Given the description of an element on the screen output the (x, y) to click on. 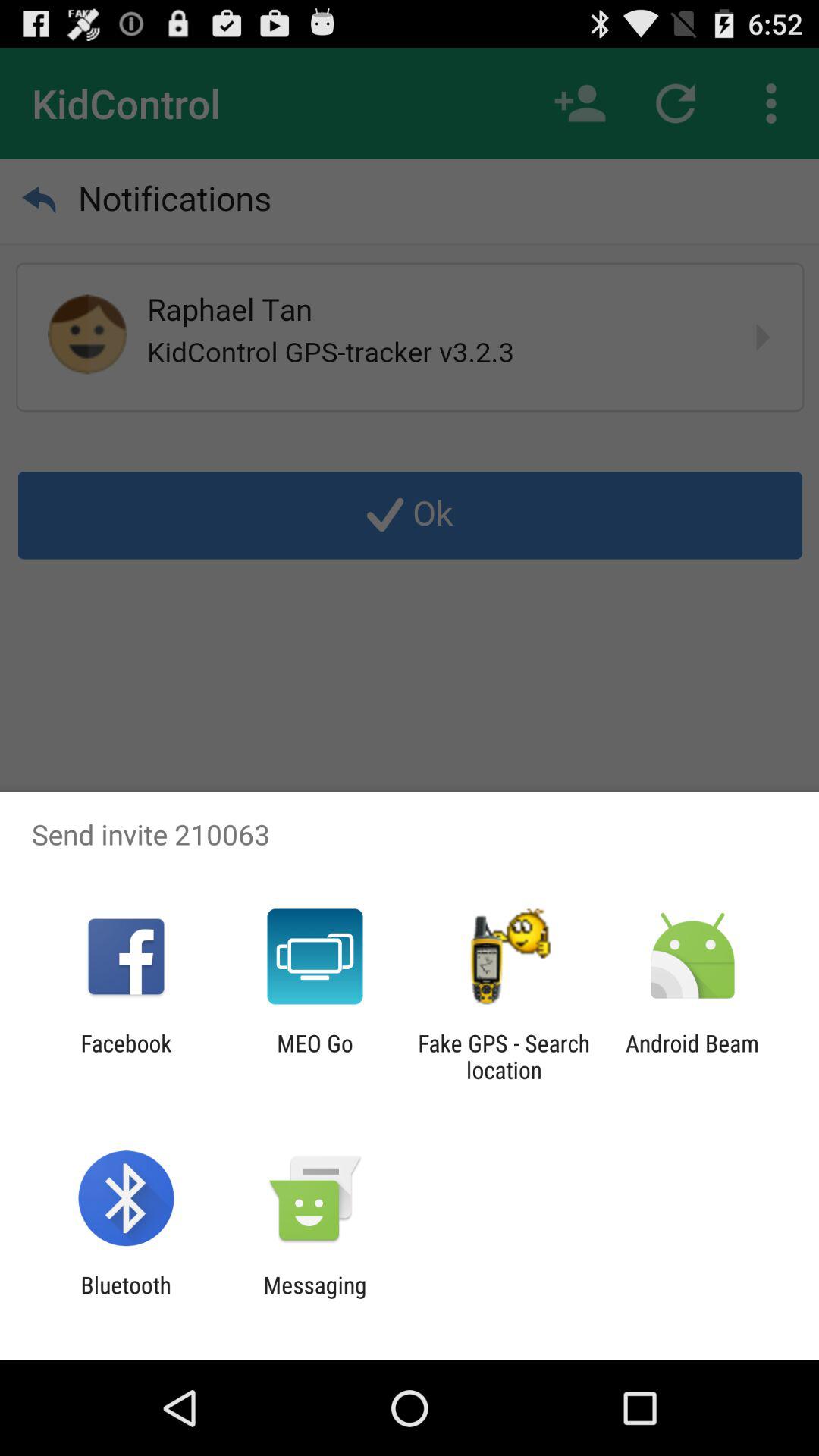
tap the item to the left of the fake gps search item (314, 1056)
